Given the description of an element on the screen output the (x, y) to click on. 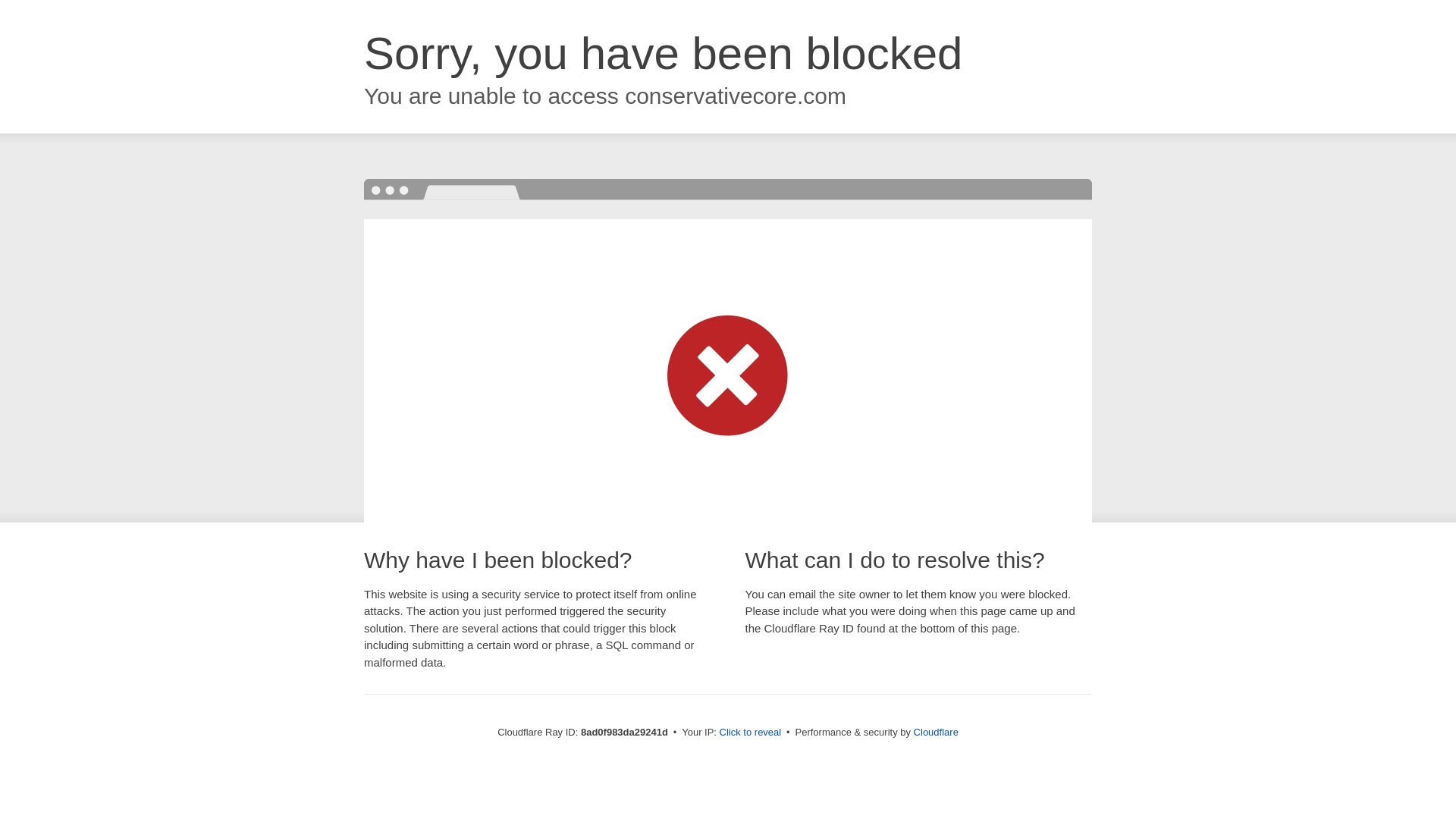
Cloudflare (936, 731)
Click to reveal (750, 732)
